Given the description of an element on the screen output the (x, y) to click on. 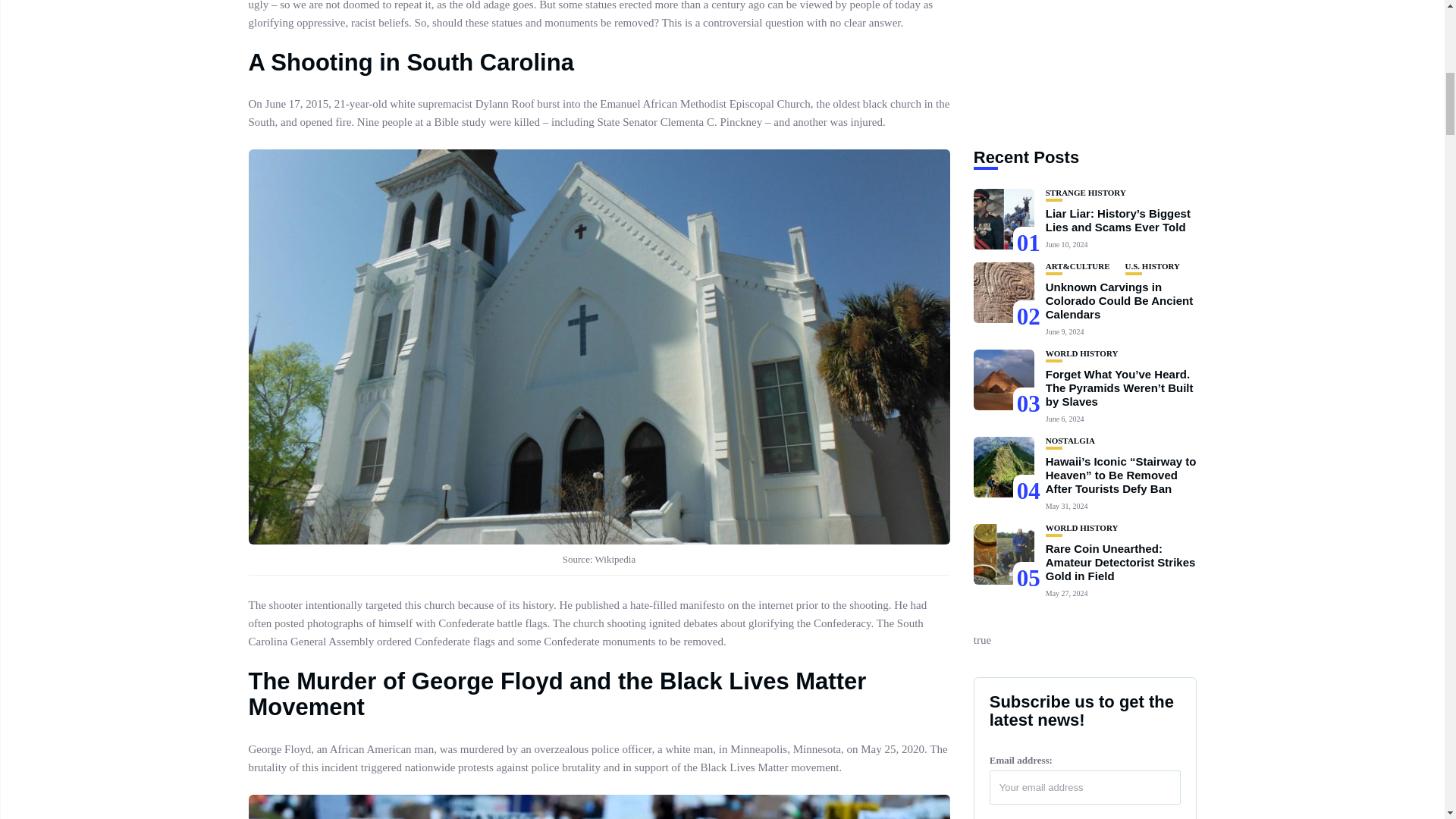
Sign up (1027, 470)
